Given the description of an element on the screen output the (x, y) to click on. 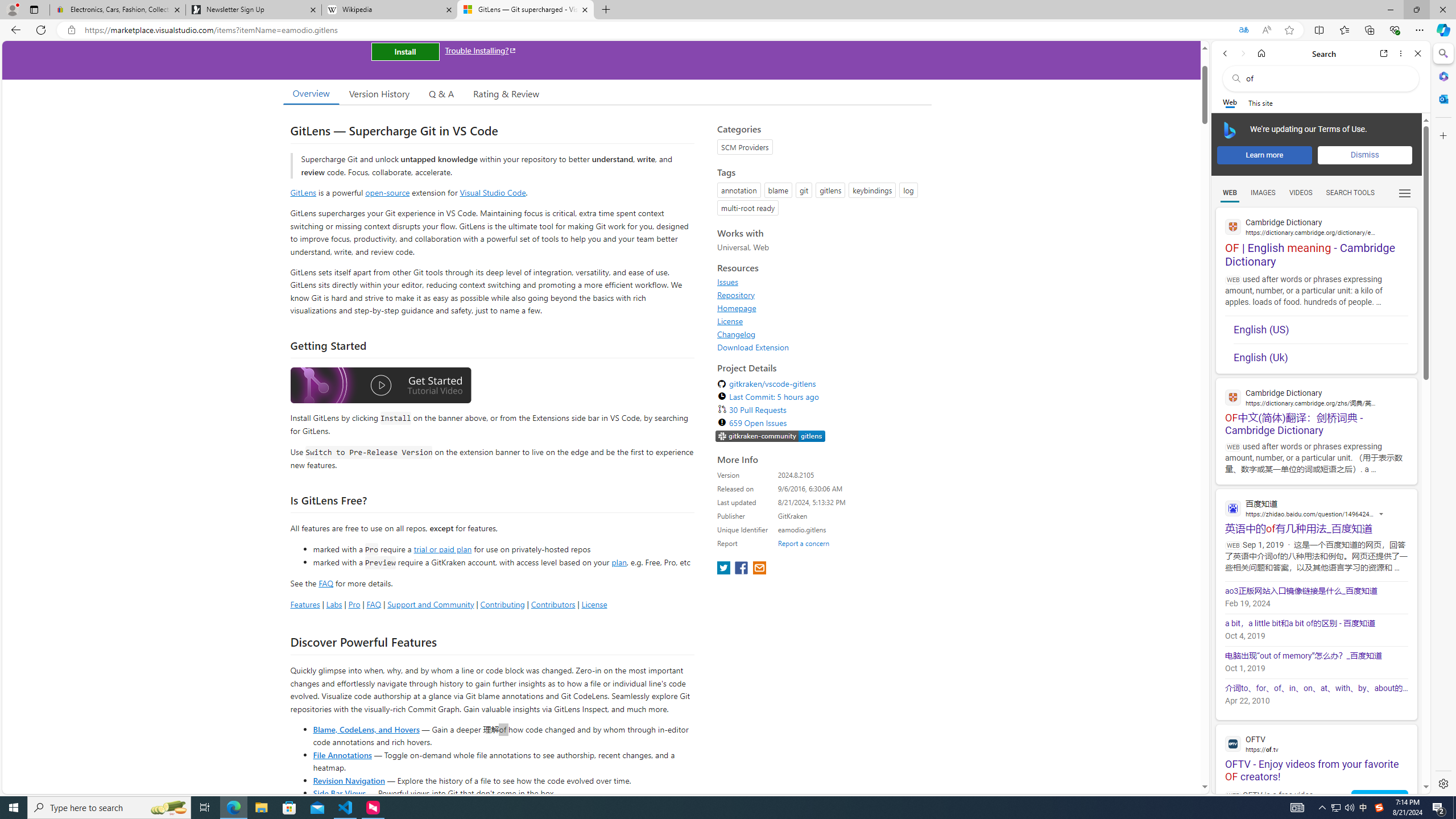
https://slack.gitkraken.com// (769, 436)
Actions for this site (1381, 514)
OF | English meaning - Cambridge Dictionary (1315, 238)
open-source (387, 192)
Changelog (736, 333)
Learn more (1264, 154)
English (Uk) (1320, 353)
OFTV - Enjoy videos from your favorite OF creators! (1315, 753)
plan (618, 562)
